Given the description of an element on the screen output the (x, y) to click on. 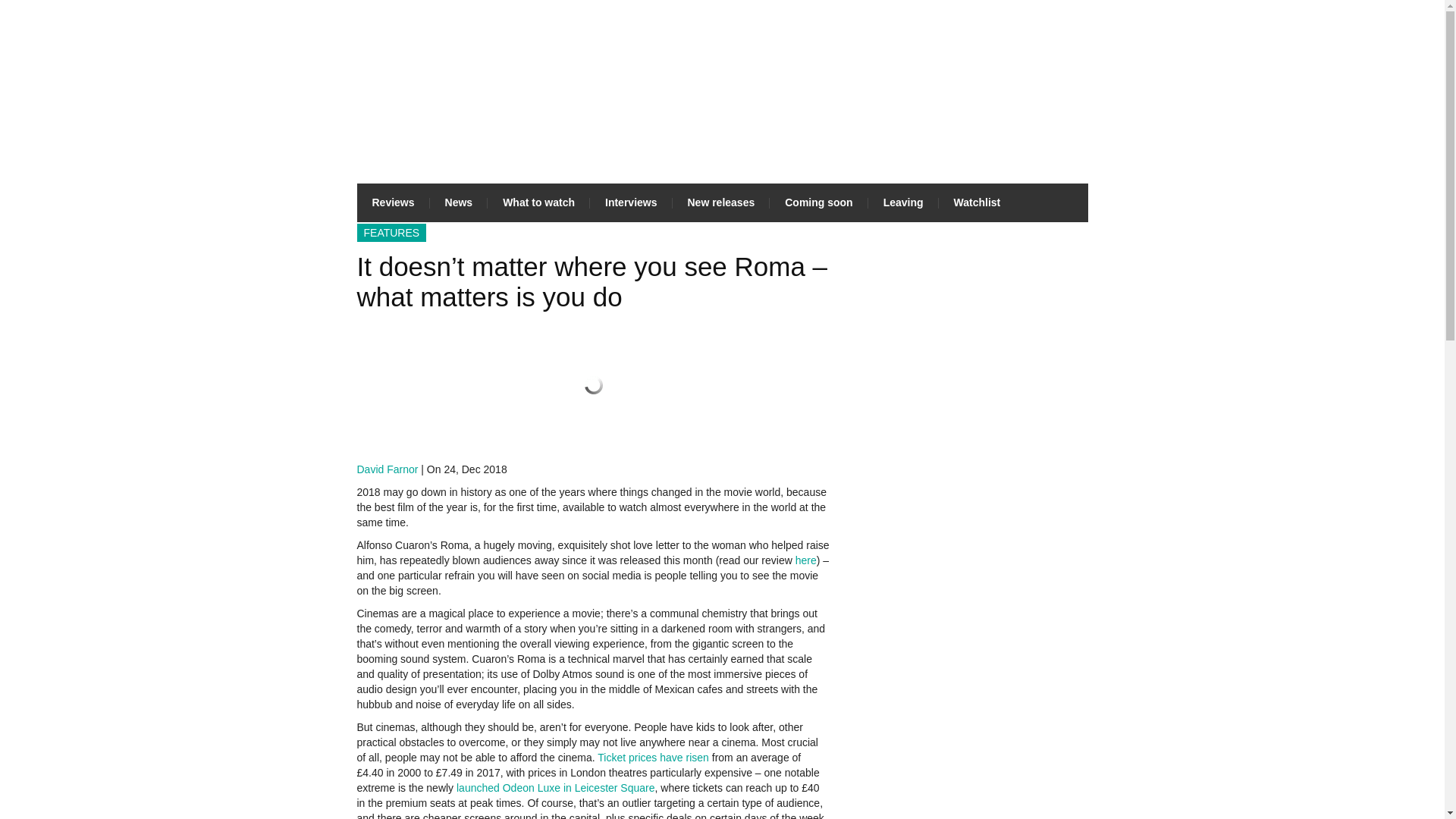
News (458, 202)
Reviews (392, 202)
New releases (720, 202)
Coming soon (818, 202)
New releases (720, 202)
Interviews (630, 202)
What to watch (538, 202)
